Given the description of an element on the screen output the (x, y) to click on. 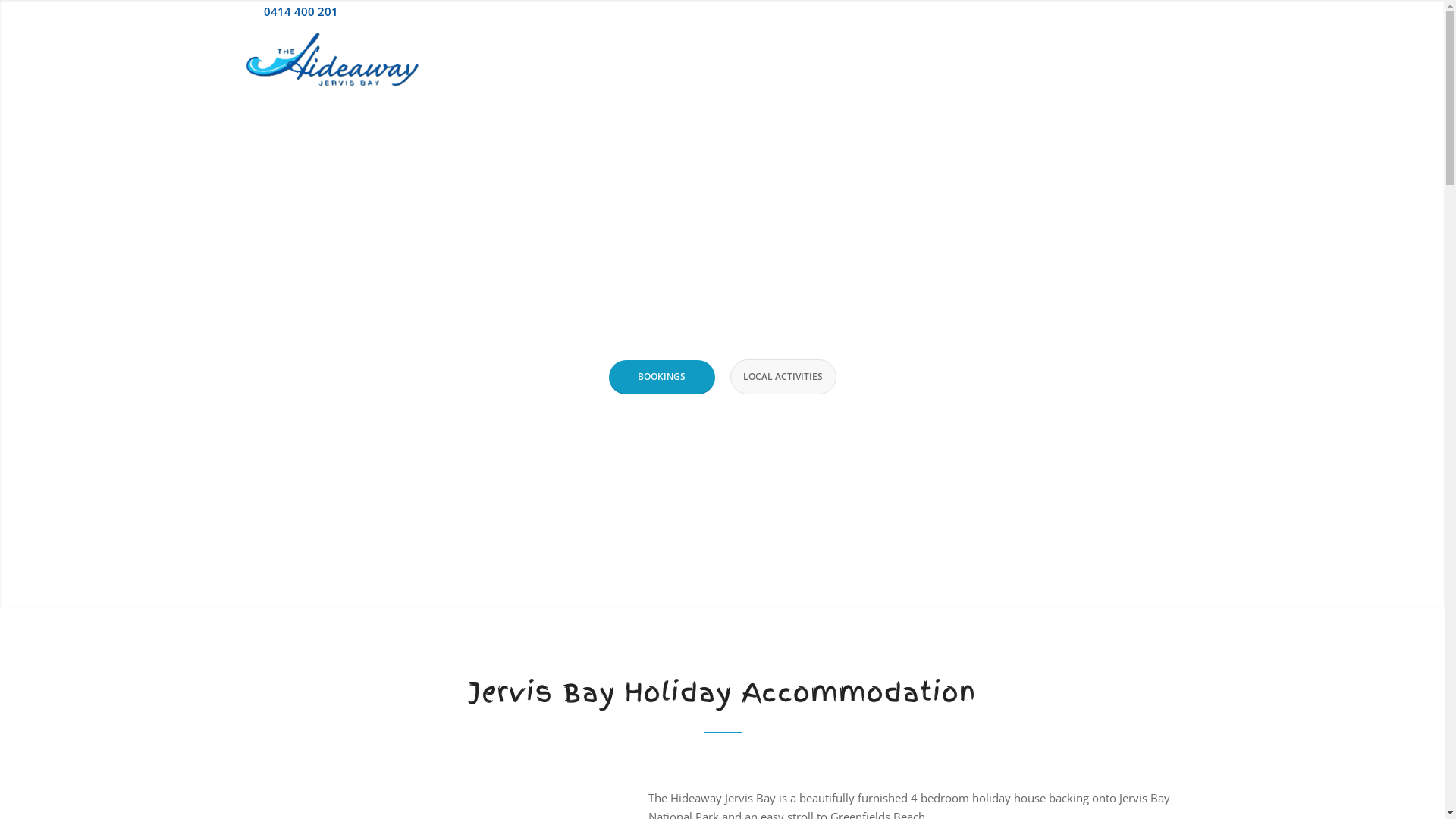
Enquiries Element type: text (889, 64)
Welcome Element type: text (754, 64)
0414 400 201 Element type: text (300, 10)
Winter Stays Element type: text (1136, 64)
Bookings Element type: text (822, 64)
Directions Element type: text (1056, 64)
Customer Login Element type: text (1111, 10)
BOOKINGS Element type: text (661, 377)
LOCAL ACTIVITIES Element type: text (782, 376)
Registration Element type: text (1184, 10)
Local Activities Element type: text (971, 64)
